Given the description of an element on the screen output the (x, y) to click on. 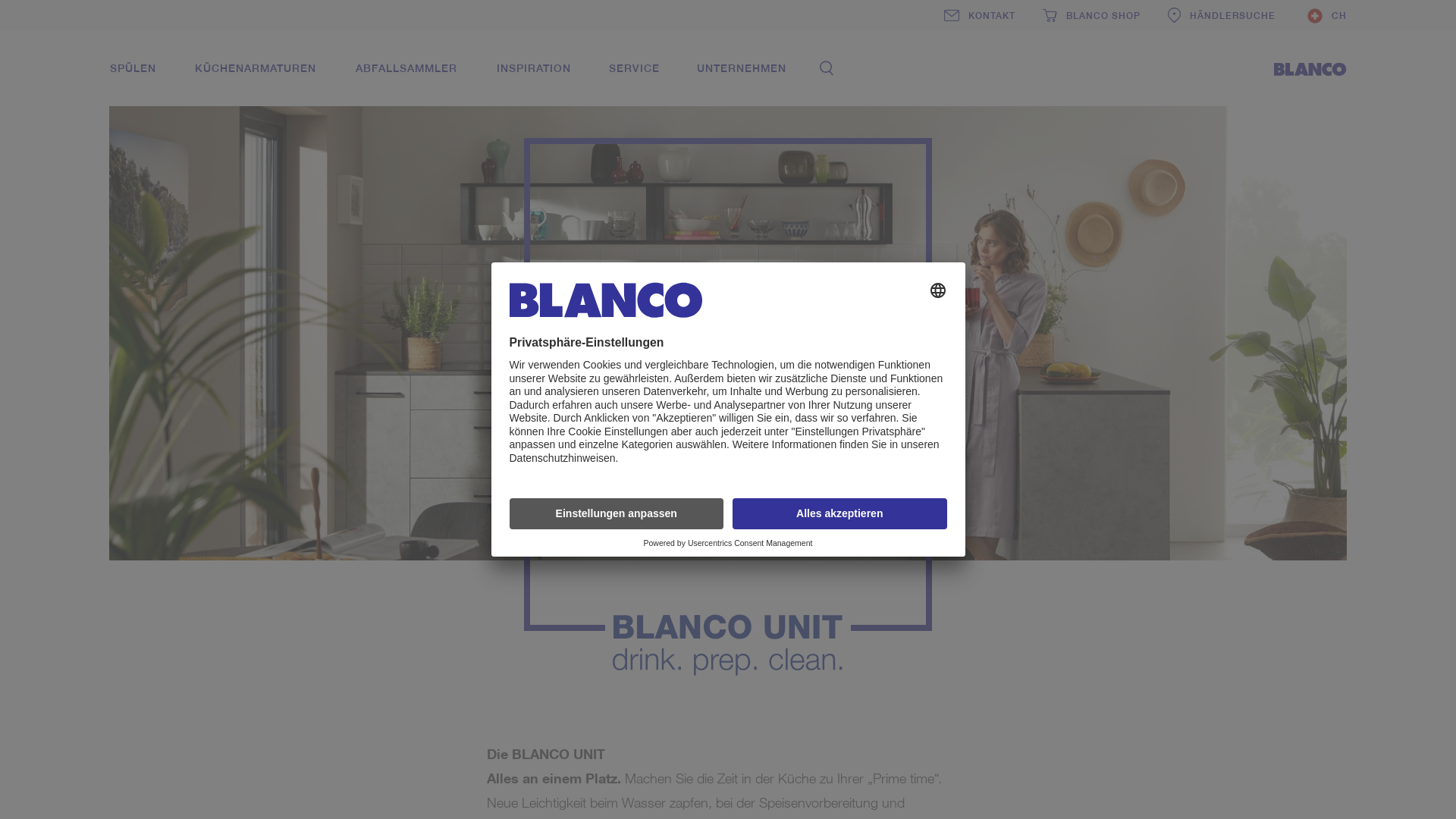
Language Flyout Element type: hover (1327, 15)
BLANCO SHOP Element type: text (1091, 14)
Die BLANCO UNIT - Alles an einem Platz Element type: hover (727, 349)
KONTAKT Element type: text (979, 14)
Suche Element type: hover (826, 67)
